Given the description of an element on the screen output the (x, y) to click on. 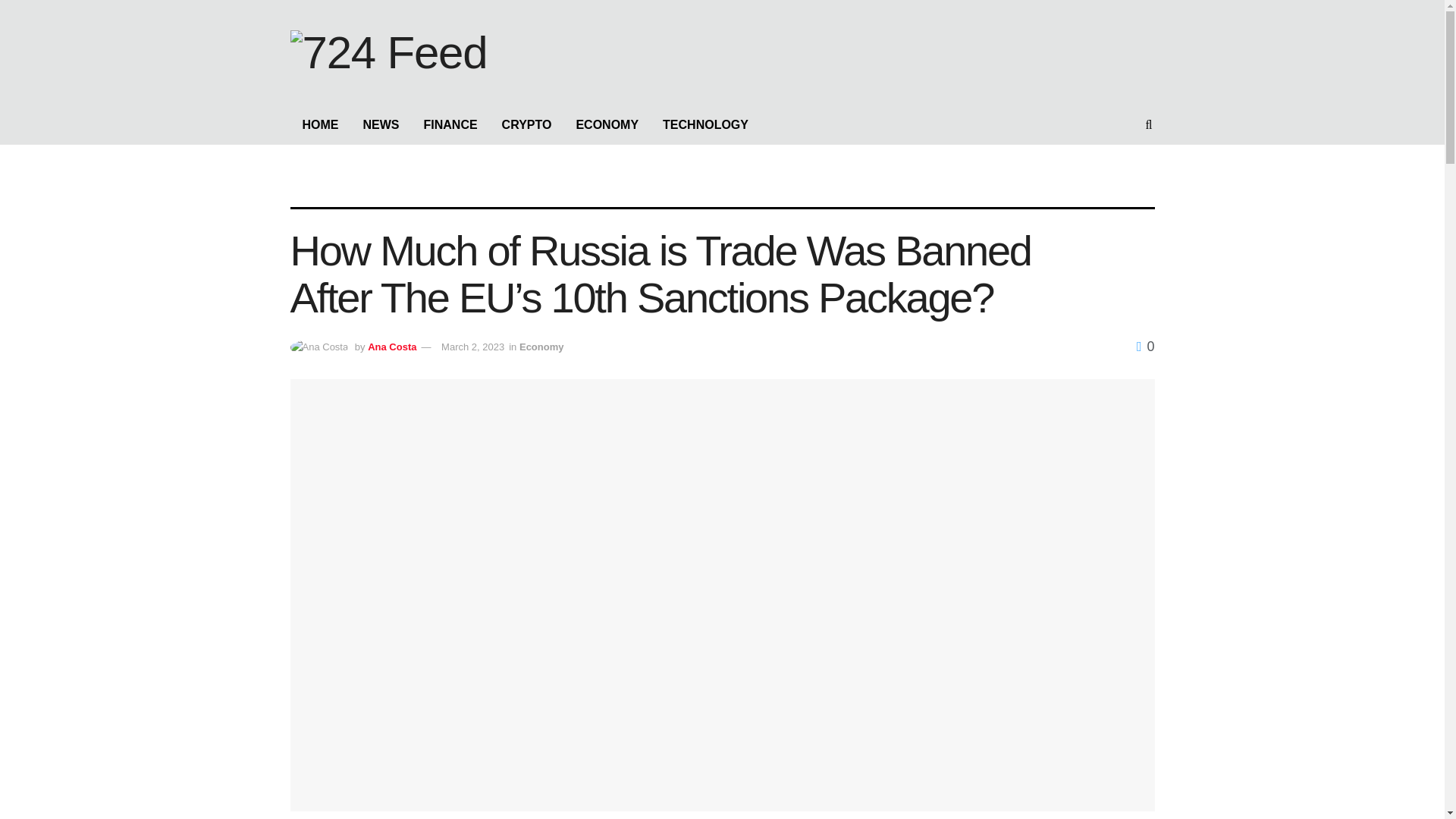
NEWS (380, 125)
FINANCE (449, 125)
March 2, 2023 (472, 346)
HOME (319, 125)
CRYPTO (526, 125)
TECHNOLOGY (705, 125)
0 (1145, 346)
Economy (541, 346)
Ana Costa (392, 346)
ECONOMY (606, 125)
